Given the description of an element on the screen output the (x, y) to click on. 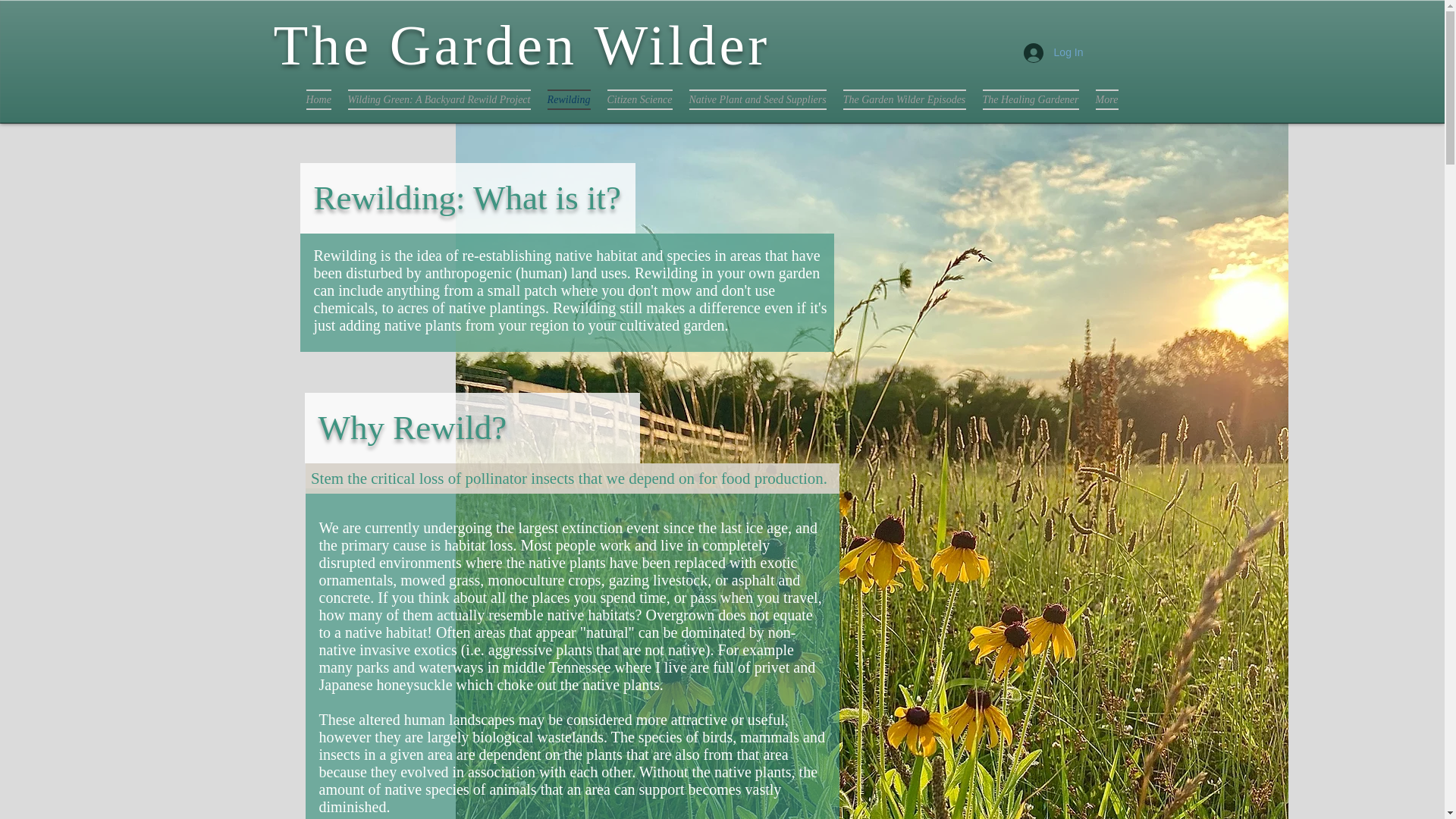
Citizen Science (639, 99)
Native Plant and Seed Suppliers (757, 99)
The Garden Wilder Episodes (904, 99)
The Healing Gardener (1030, 99)
The Garden Wilder (521, 44)
Rewilding (568, 99)
Log In (1053, 52)
Home (318, 99)
Wilding Green: A Backyard Rewild Project (438, 99)
